Given the description of an element on the screen output the (x, y) to click on. 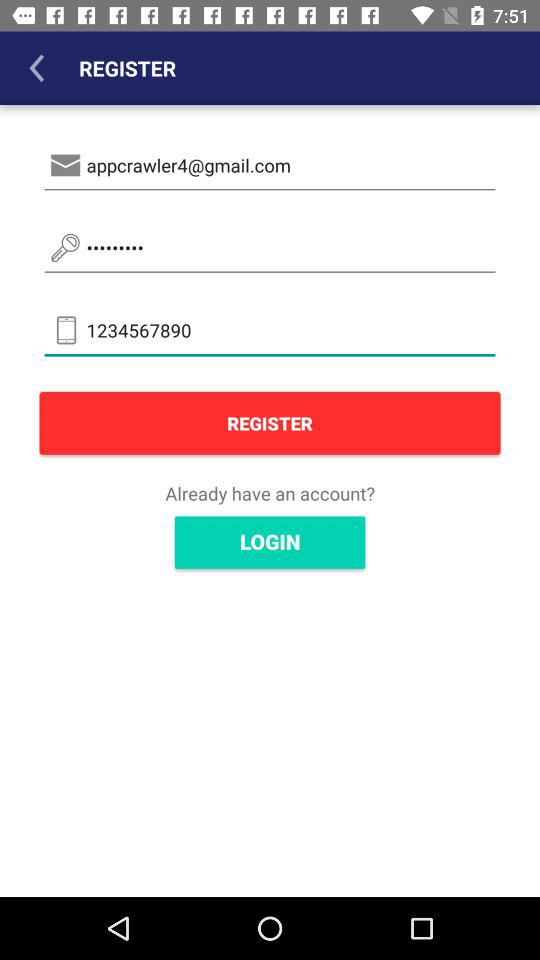
jump to crowd3116 (269, 248)
